Given the description of an element on the screen output the (x, y) to click on. 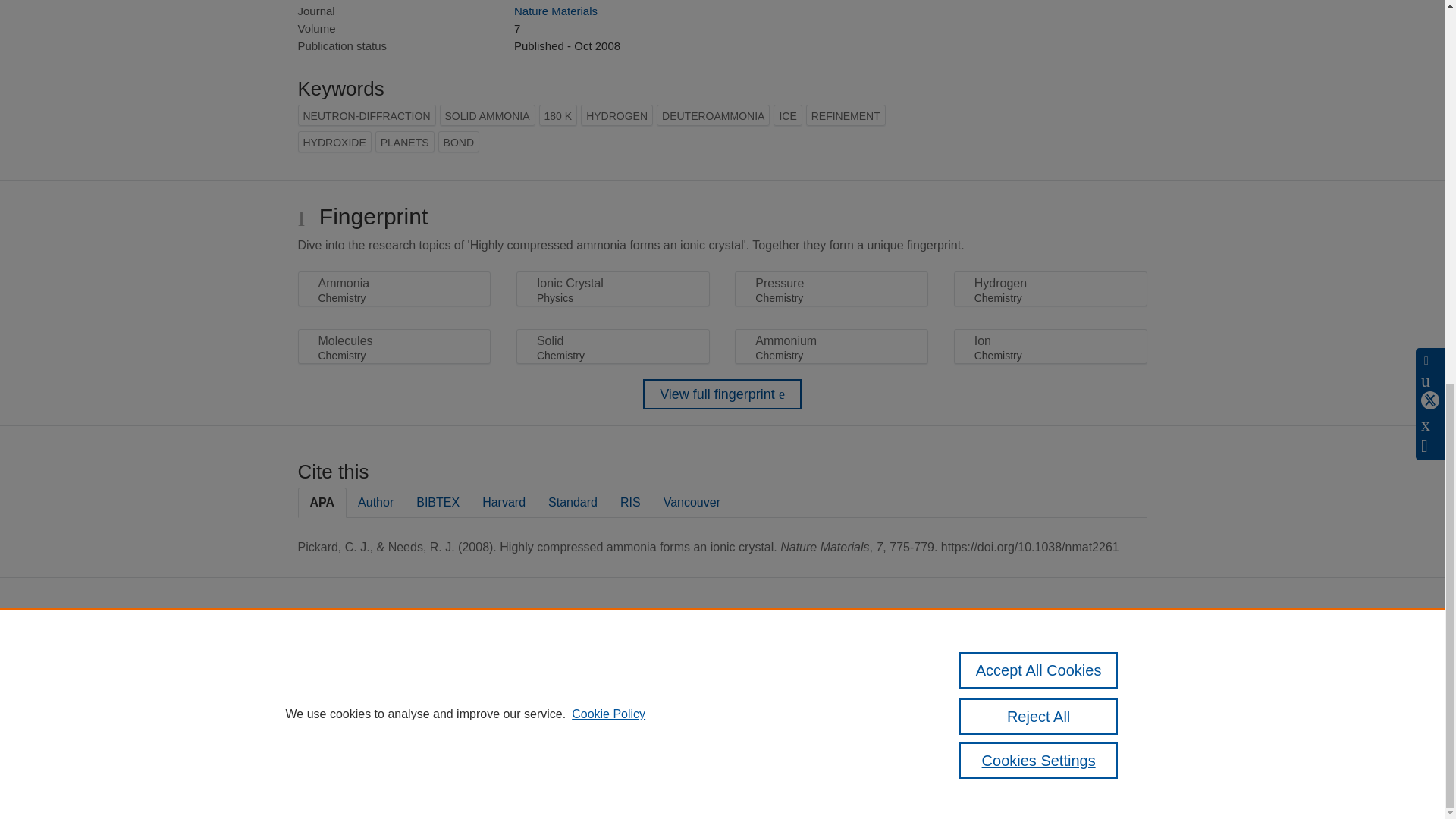
Nature Materials (554, 10)
Scopus (652, 653)
Pure (620, 653)
View full fingerprint (722, 394)
